Given the description of an element on the screen output the (x, y) to click on. 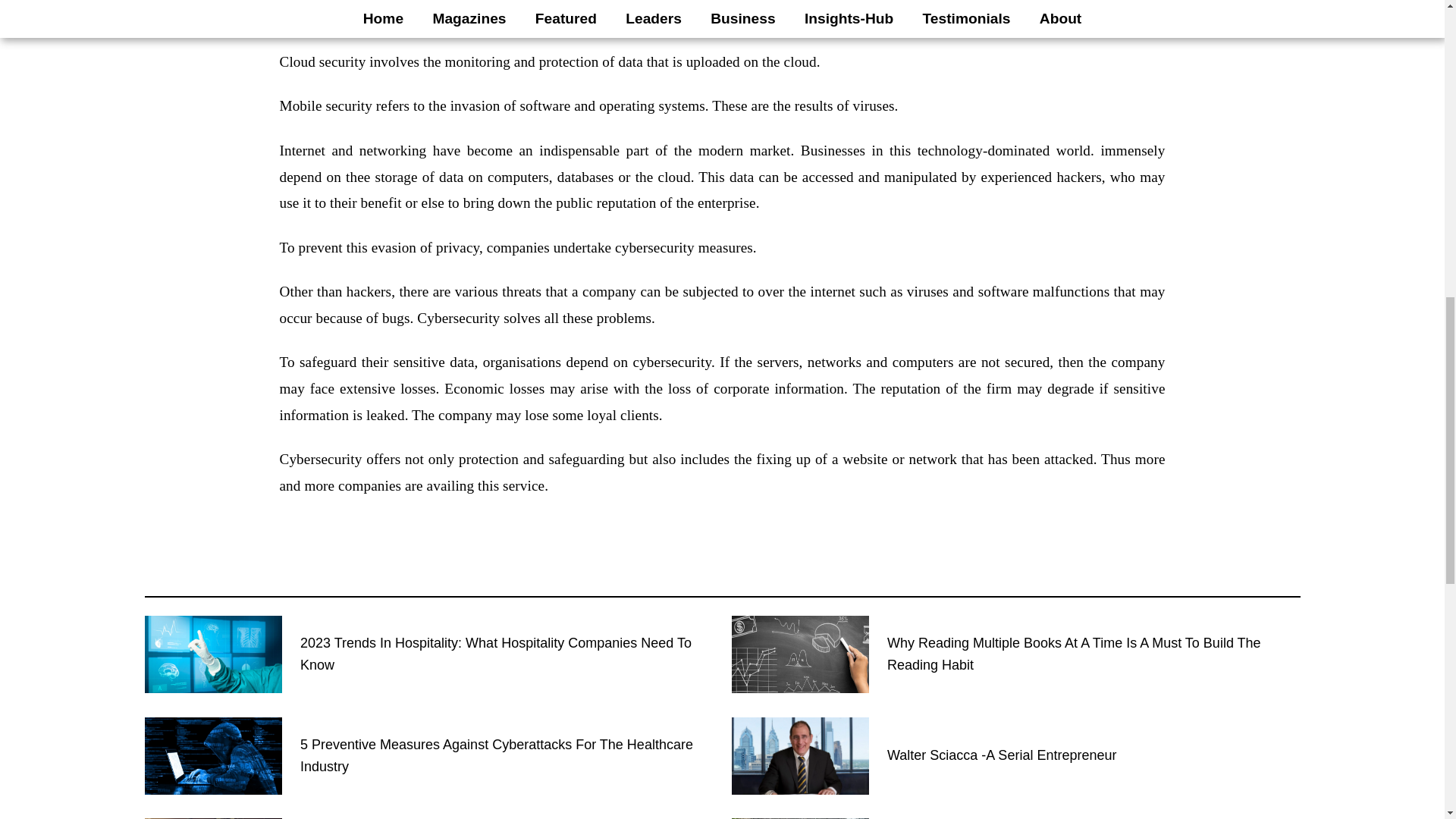
Walter Sciacca -A Serial Entrepreneur (1001, 755)
